Given the description of an element on the screen output the (x, y) to click on. 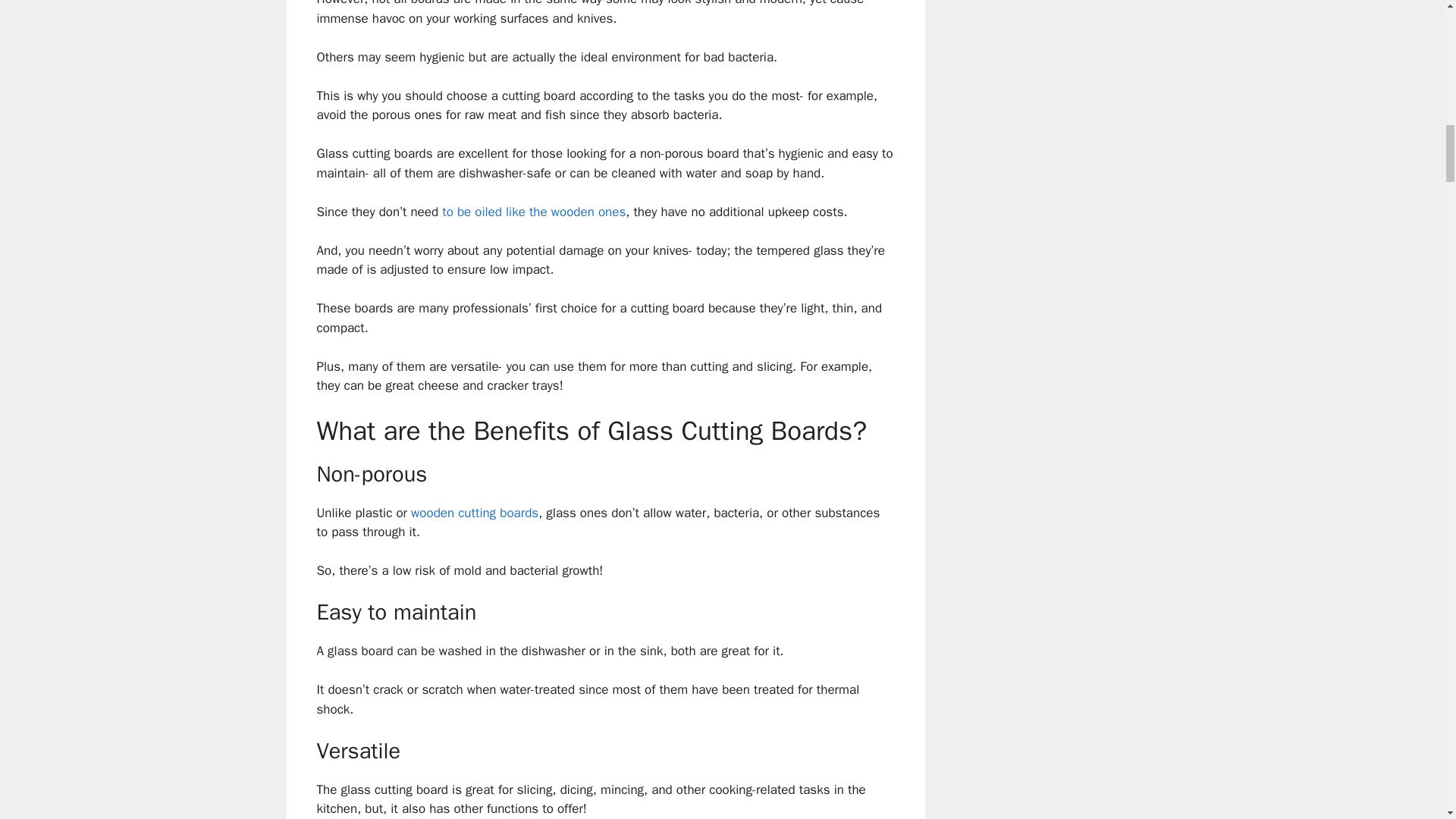
to be oiled like the wooden ones (534, 211)
wooden cutting boards (472, 512)
